Given the description of an element on the screen output the (x, y) to click on. 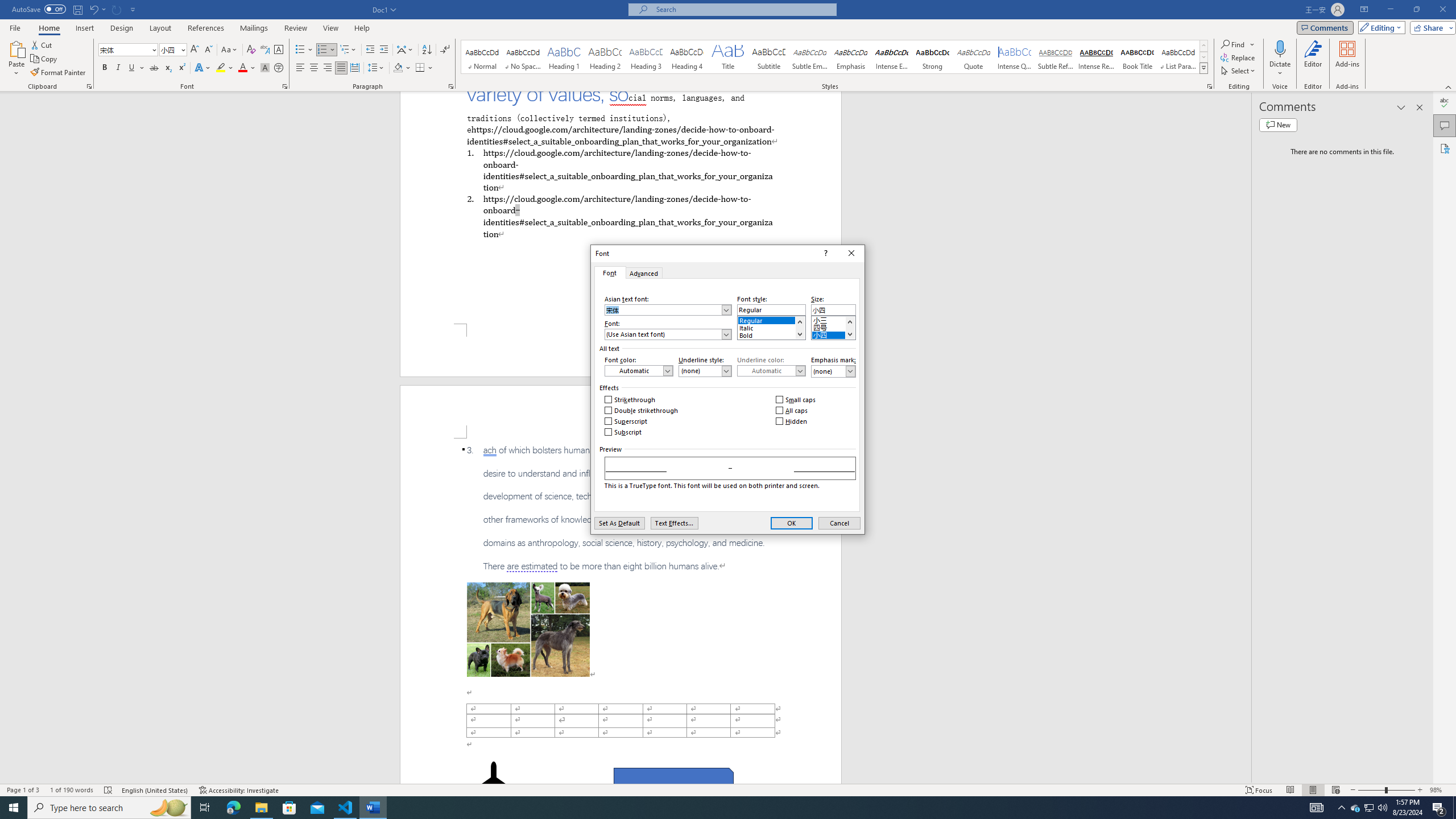
Microsoft search (742, 9)
New comment (1278, 124)
Styles (1203, 67)
Italic (118, 67)
Visual Studio Code - 1 running window (345, 807)
Type here to search (108, 807)
Office Clipboard... (88, 85)
Open (182, 49)
Borders (419, 67)
Start (13, 807)
Editor (1312, 58)
Page Number Page 1 of 3 (22, 790)
Justify (340, 67)
Bold (1368, 807)
